Given the description of an element on the screen output the (x, y) to click on. 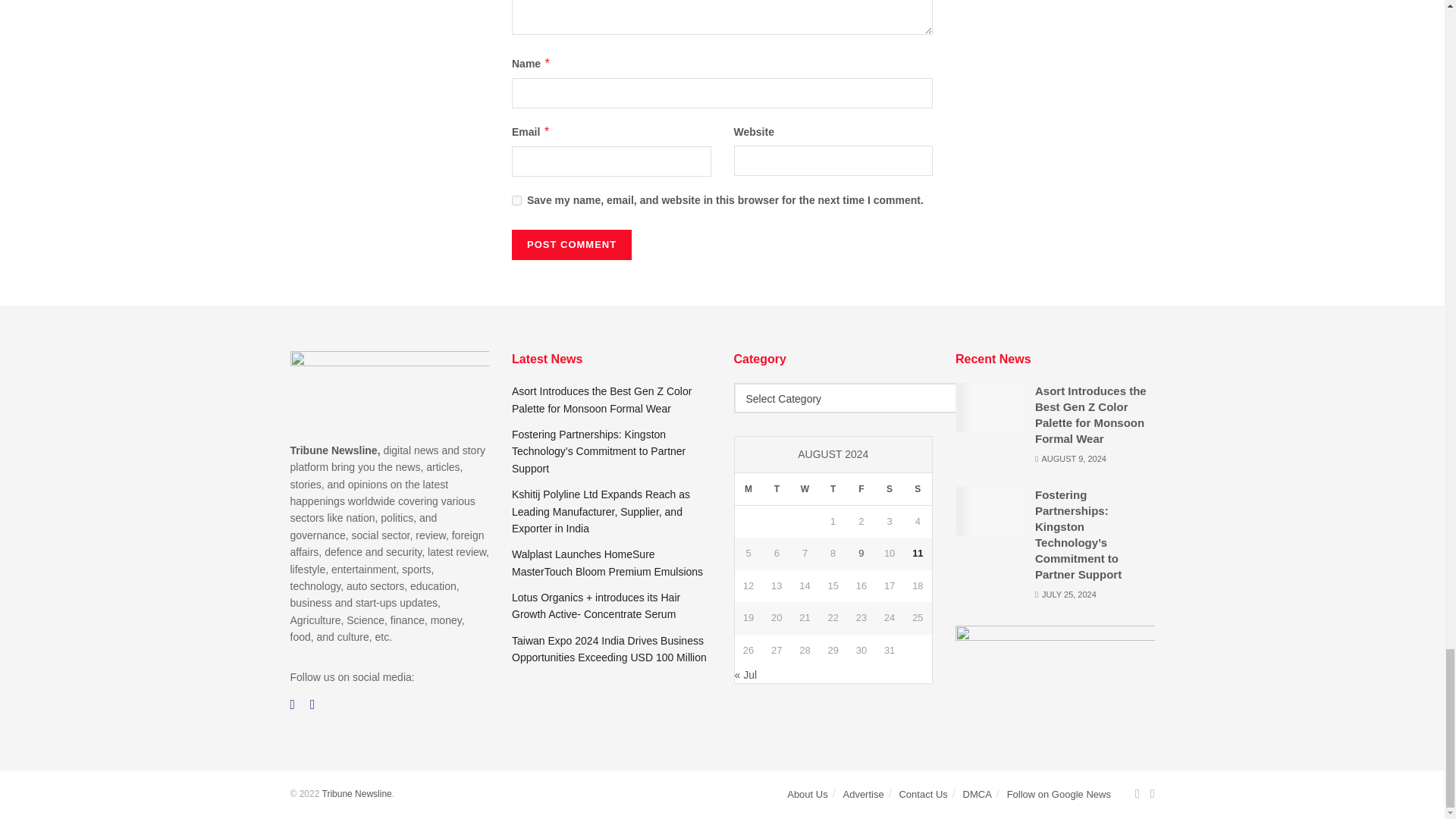
yes (516, 200)
The News Guru (356, 793)
Post Comment (571, 245)
